Given the description of an element on the screen output the (x, y) to click on. 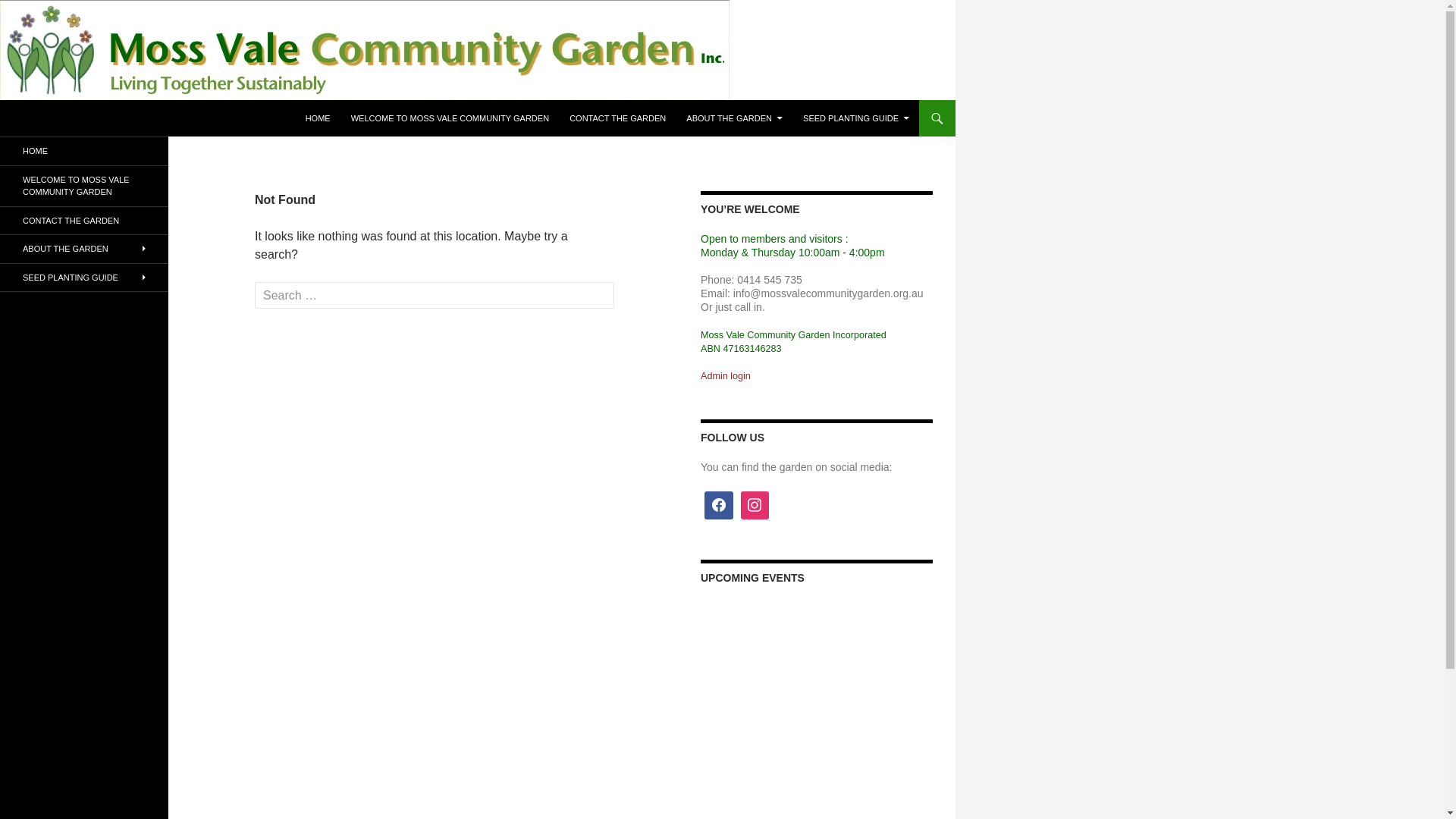
WELCOME TO MOSS VALE COMMUNITY GARDEN Element type: text (450, 118)
HOME Element type: text (317, 118)
SEED PLANTING GUIDE Element type: text (855, 118)
Admin login Element type: text (725, 375)
SKIP TO CONTENT Element type: text (304, 99)
Facebook Element type: hover (718, 505)
ABOUT THE GARDEN Element type: text (734, 118)
Search Element type: text (3, 99)
Search Element type: text (42, 13)
HOME Element type: text (84, 151)
WELCOME TO MOSS VALE COMMUNITY GARDEN Element type: text (84, 185)
ABOUT THE GARDEN Element type: text (84, 249)
Instagram Element type: hover (755, 505)
CONTACT THE GARDEN Element type: text (84, 220)
CONTACT THE GARDEN Element type: text (617, 118)
Moss Vale Community Garden Element type: text (120, 118)
SEED PLANTING GUIDE Element type: text (84, 277)
